Given the description of an element on the screen output the (x, y) to click on. 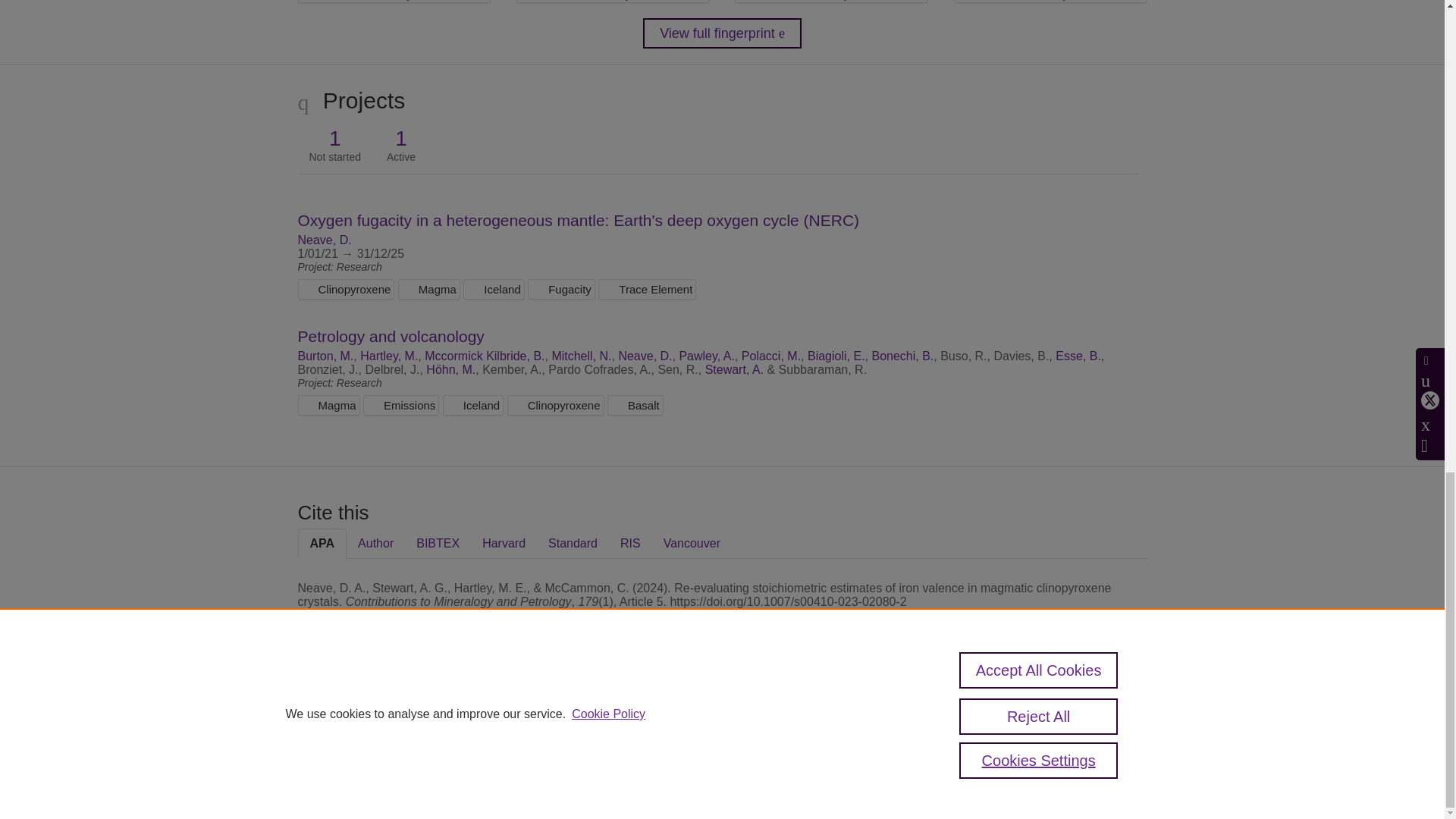
1 (334, 138)
View full fingerprint (722, 33)
